Given the description of an element on the screen output the (x, y) to click on. 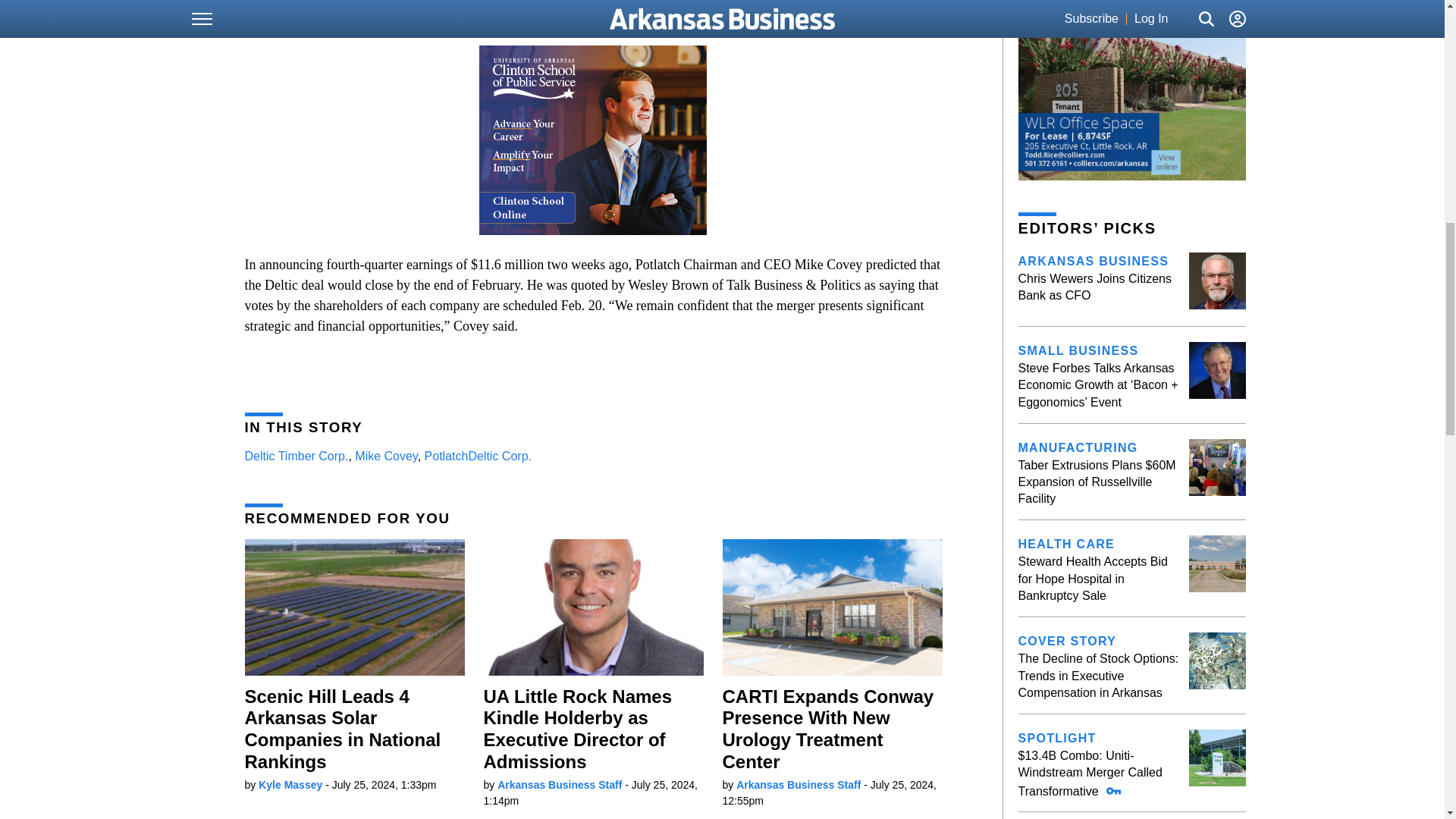
Posts by Kyle Massey (290, 784)
Posts by Arkansas Business Staff (798, 784)
Posts by Arkansas Business Staff (559, 784)
